Given the description of an element on the screen output the (x, y) to click on. 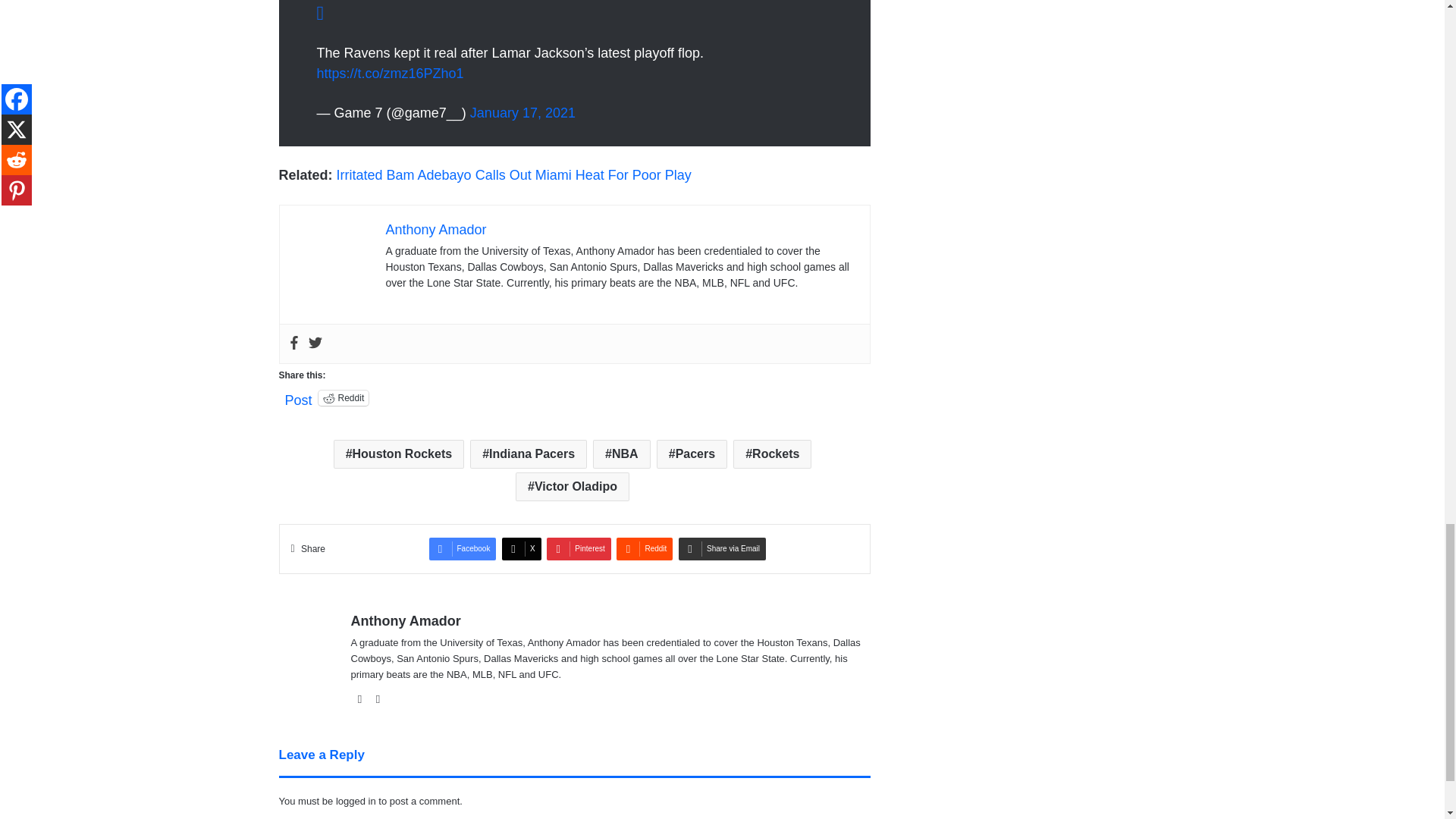
Irritated Bam Adebayo Calls Out Miami Heat For Poor Play   (517, 174)
January 17, 2021 (522, 112)
Facebook (292, 343)
Anthony Amador (435, 229)
